Given the description of an element on the screen output the (x, y) to click on. 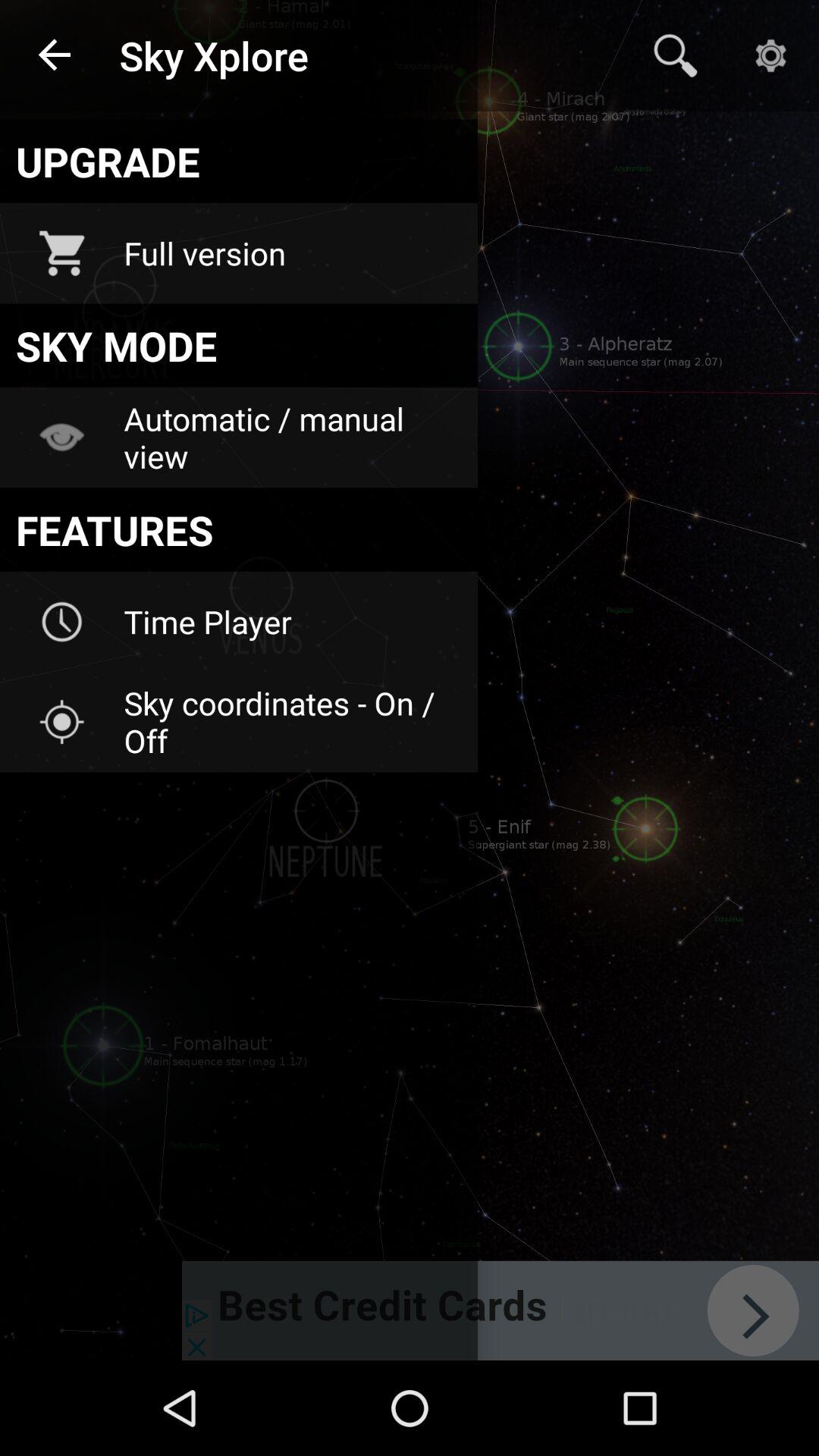
scroll to the features icon (238, 529)
